Given the description of an element on the screen output the (x, y) to click on. 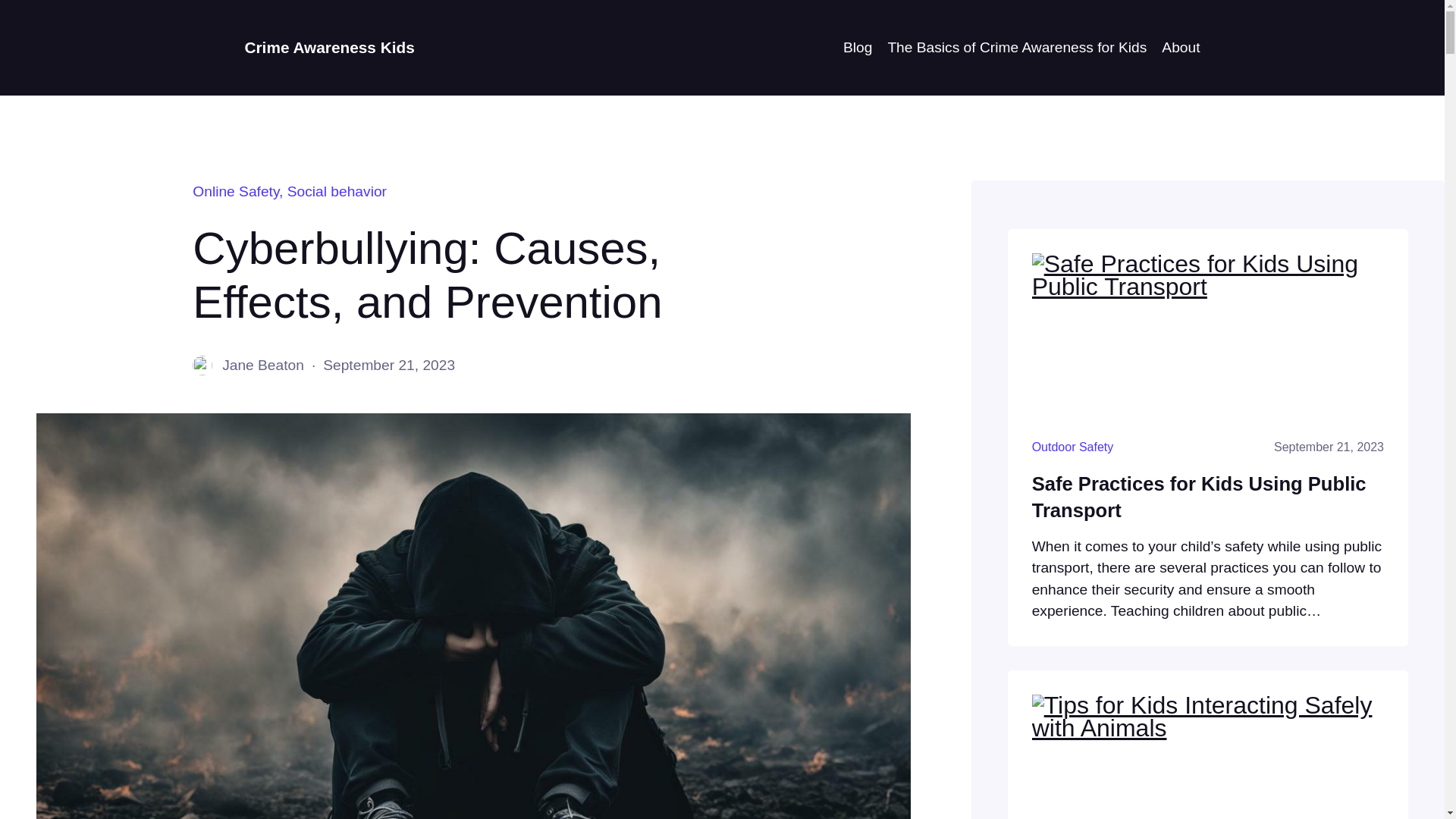
About (1180, 47)
Safe Practices for Kids Using Public Transport (1208, 497)
Crime Awareness Kids (328, 47)
Outdoor Safety (1072, 446)
Social behavior (336, 191)
The Basics of Crime Awareness for Kids (1016, 47)
Blog (857, 47)
Online Safety (235, 191)
